Given the description of an element on the screen output the (x, y) to click on. 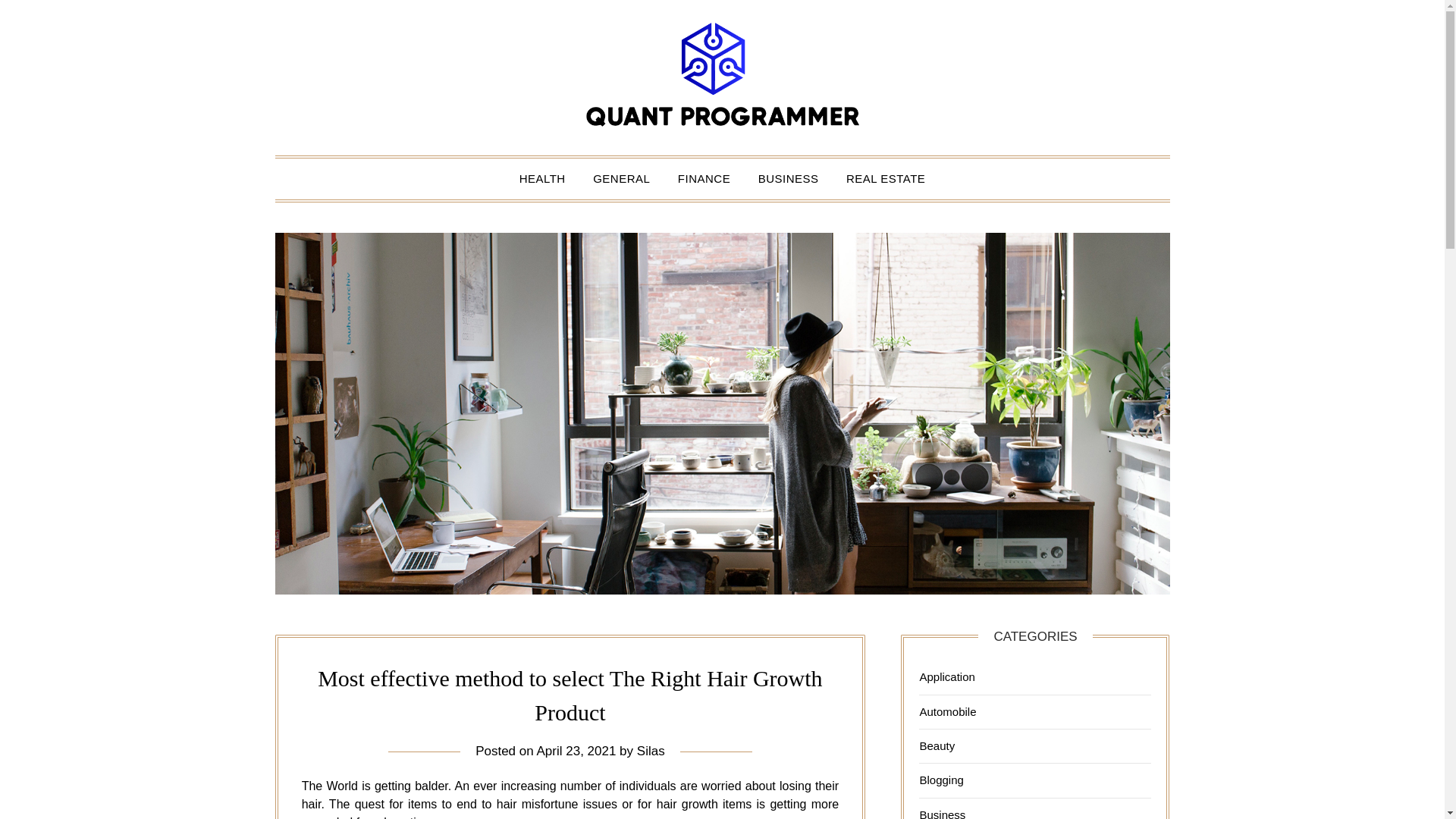
April 23, 2021 (575, 750)
GENERAL (621, 178)
FINANCE (703, 178)
Application (946, 676)
Business (941, 813)
BUSINESS (788, 178)
Automobile (946, 711)
Silas (651, 750)
Blogging (940, 779)
REAL ESTATE (885, 178)
HEALTH (542, 178)
Beauty (936, 745)
